Given the description of an element on the screen output the (x, y) to click on. 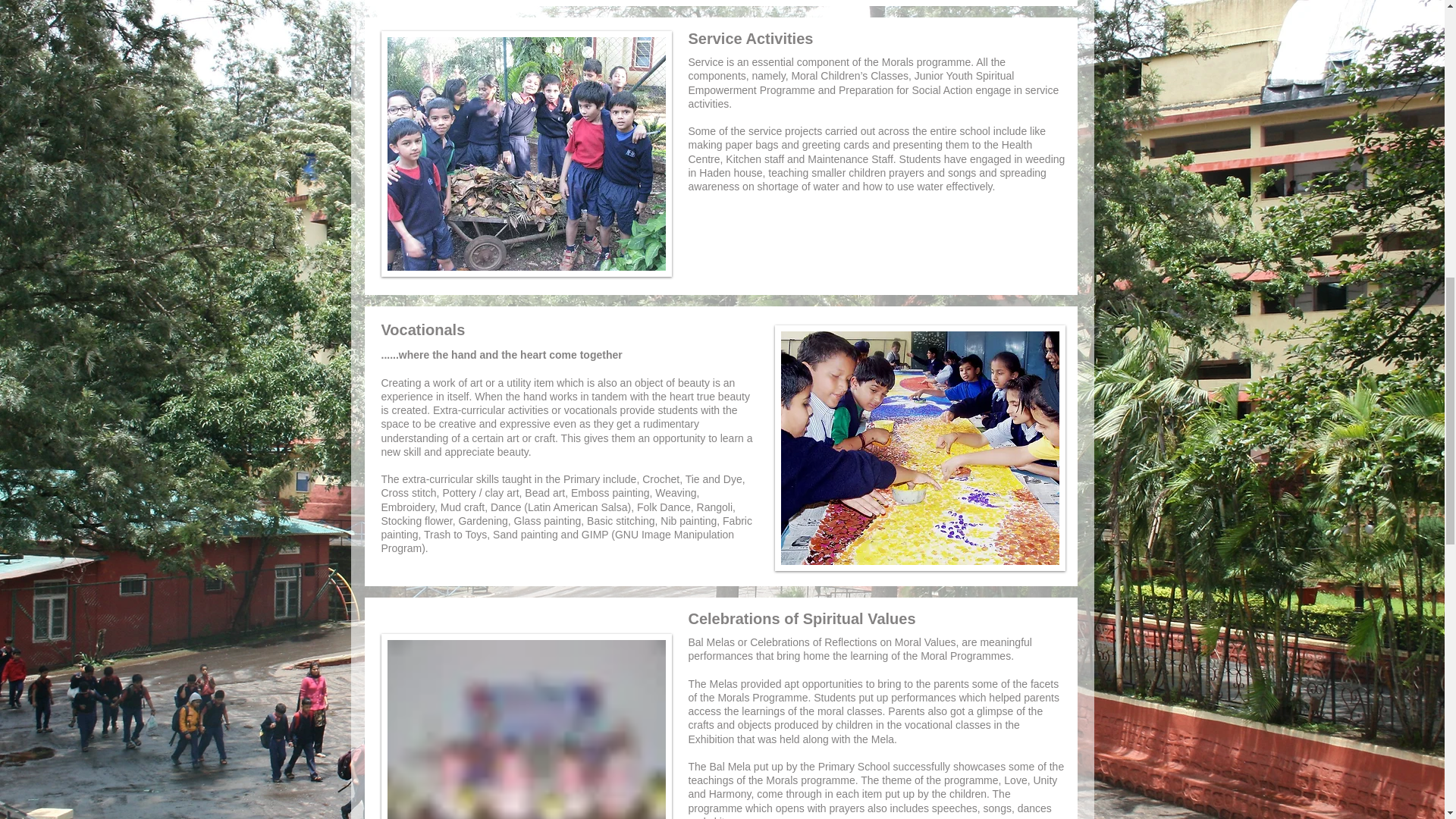
6pagea.jpg (919, 447)
